Given the description of an element on the screen output the (x, y) to click on. 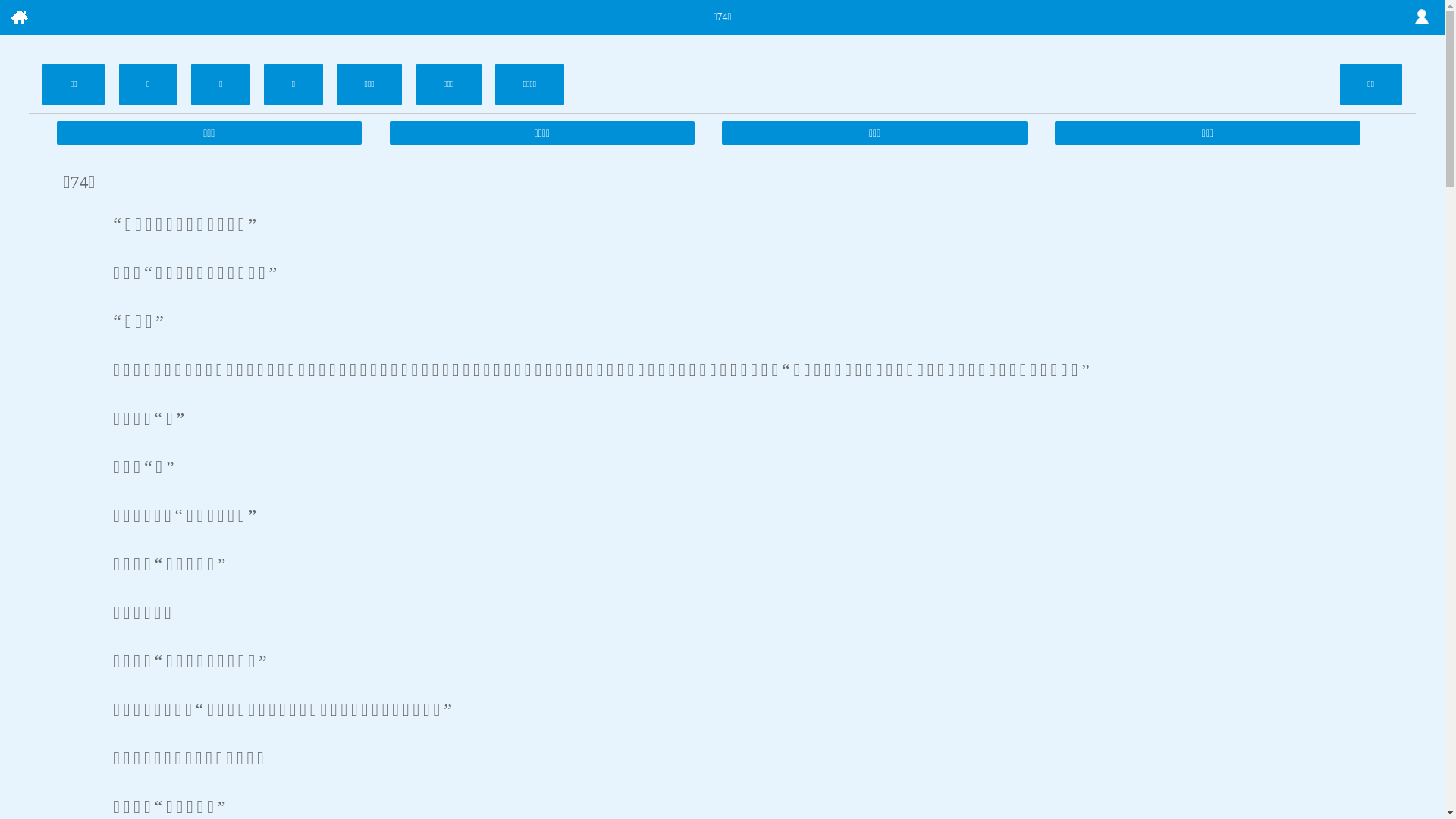
  Element type: text (1421, 17)
  Element type: text (18, 17)
